Given the description of an element on the screen output the (x, y) to click on. 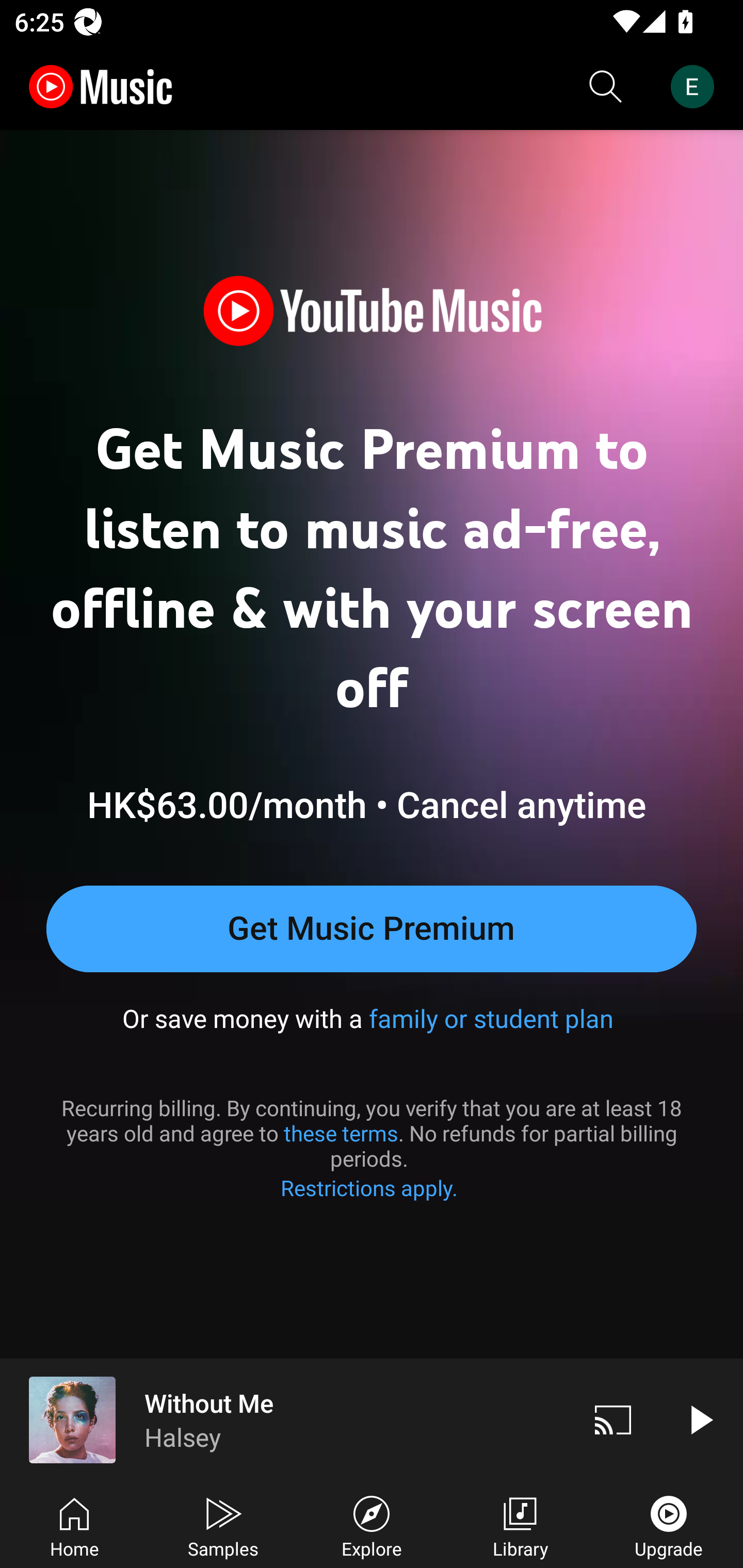
Search (605, 86)
Account (696, 86)
Get Music Premium (371, 928)
Without Me Halsey (284, 1419)
Cast. Disconnected (612, 1419)
Play video (699, 1419)
Home (74, 1524)
Samples (222, 1524)
Explore (371, 1524)
Library (519, 1524)
Upgrade (668, 1524)
